Given the description of an element on the screen output the (x, y) to click on. 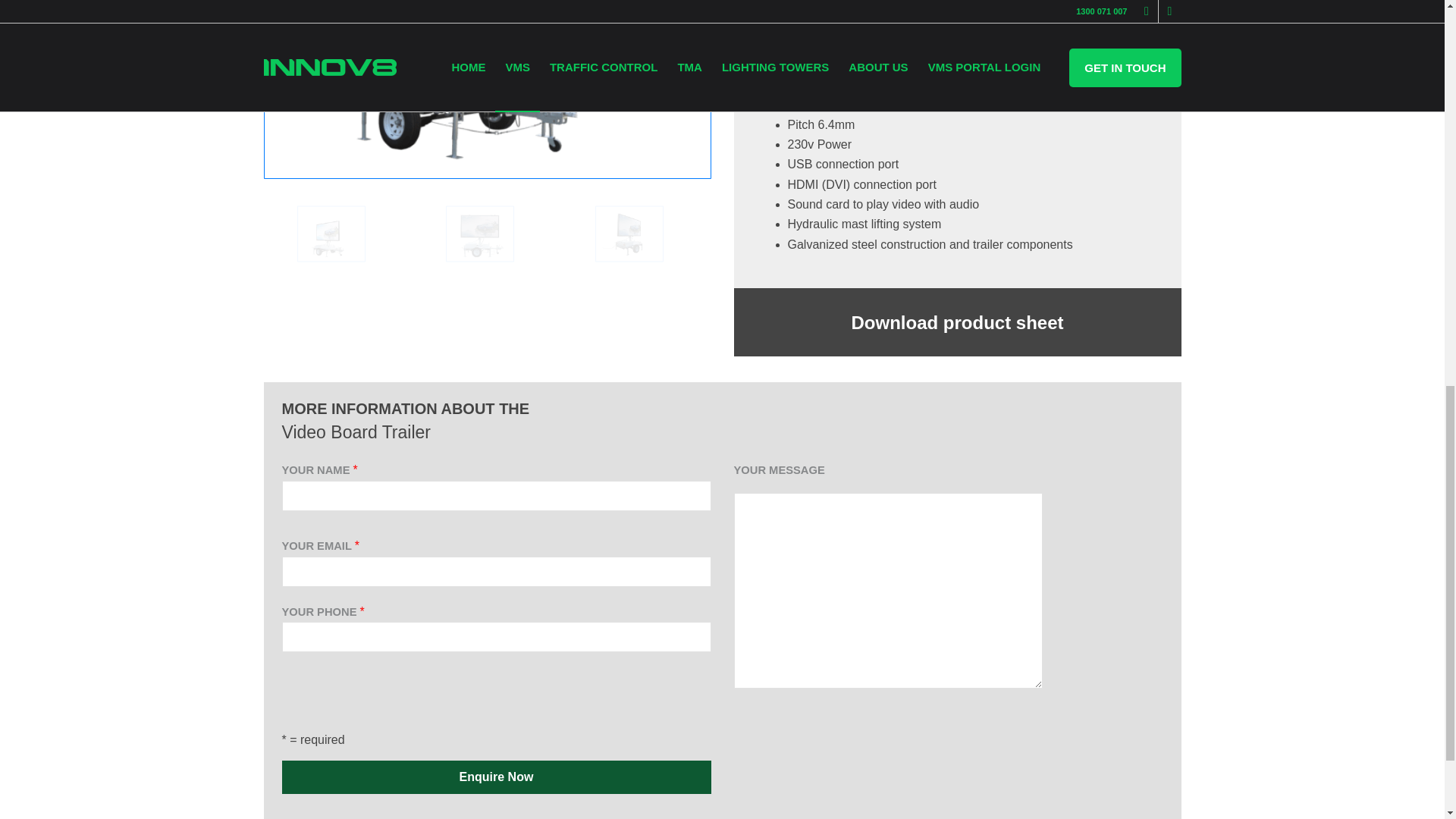
Download product sheet (956, 322)
Enquire Now (496, 776)
Enquire Now (496, 776)
